Given the description of an element on the screen output the (x, y) to click on. 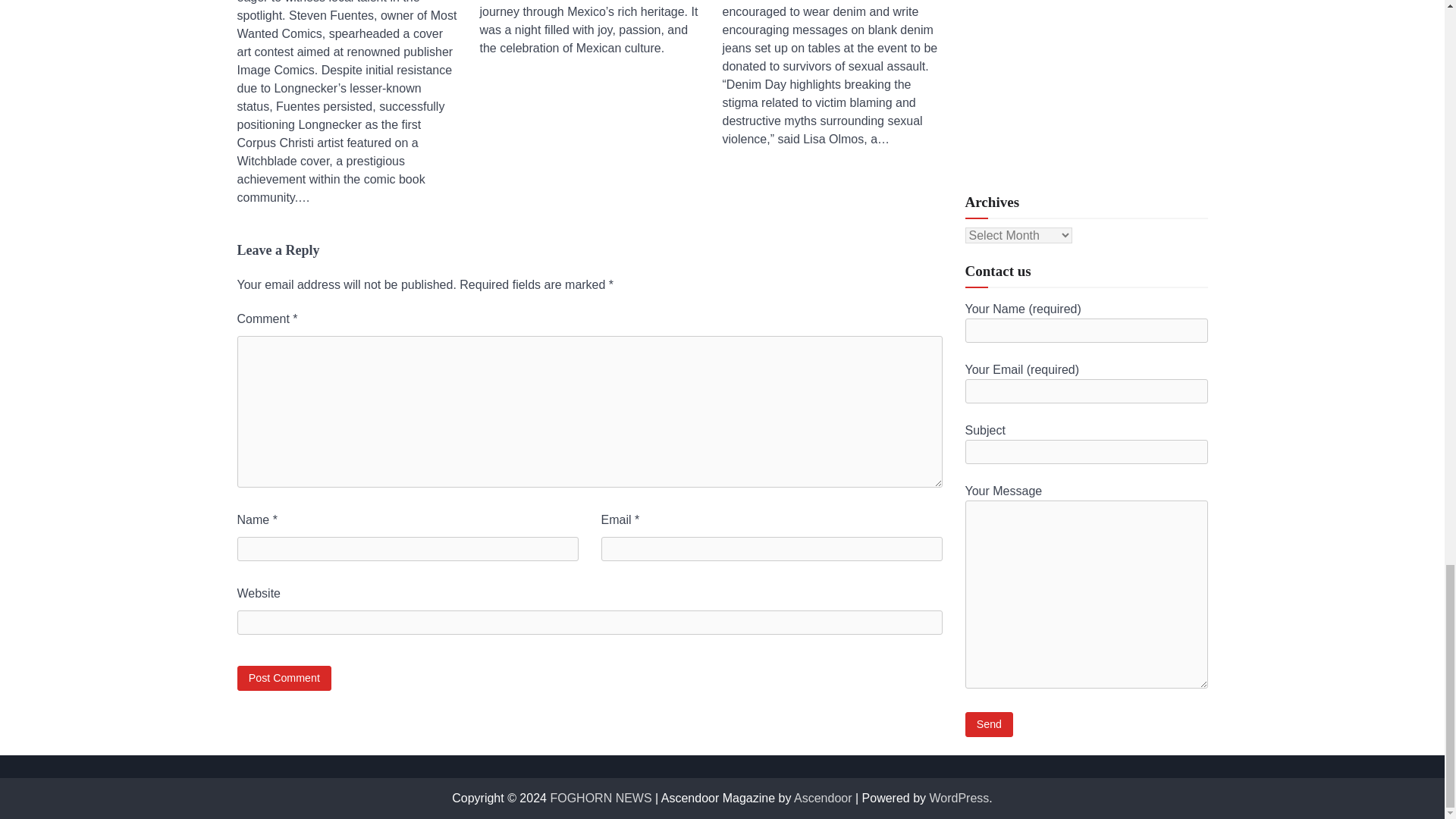
Post Comment (283, 678)
WordPress (960, 797)
Ascendoor (822, 797)
Post Comment (283, 678)
FOGHORN NEWS (600, 797)
